Given the description of an element on the screen output the (x, y) to click on. 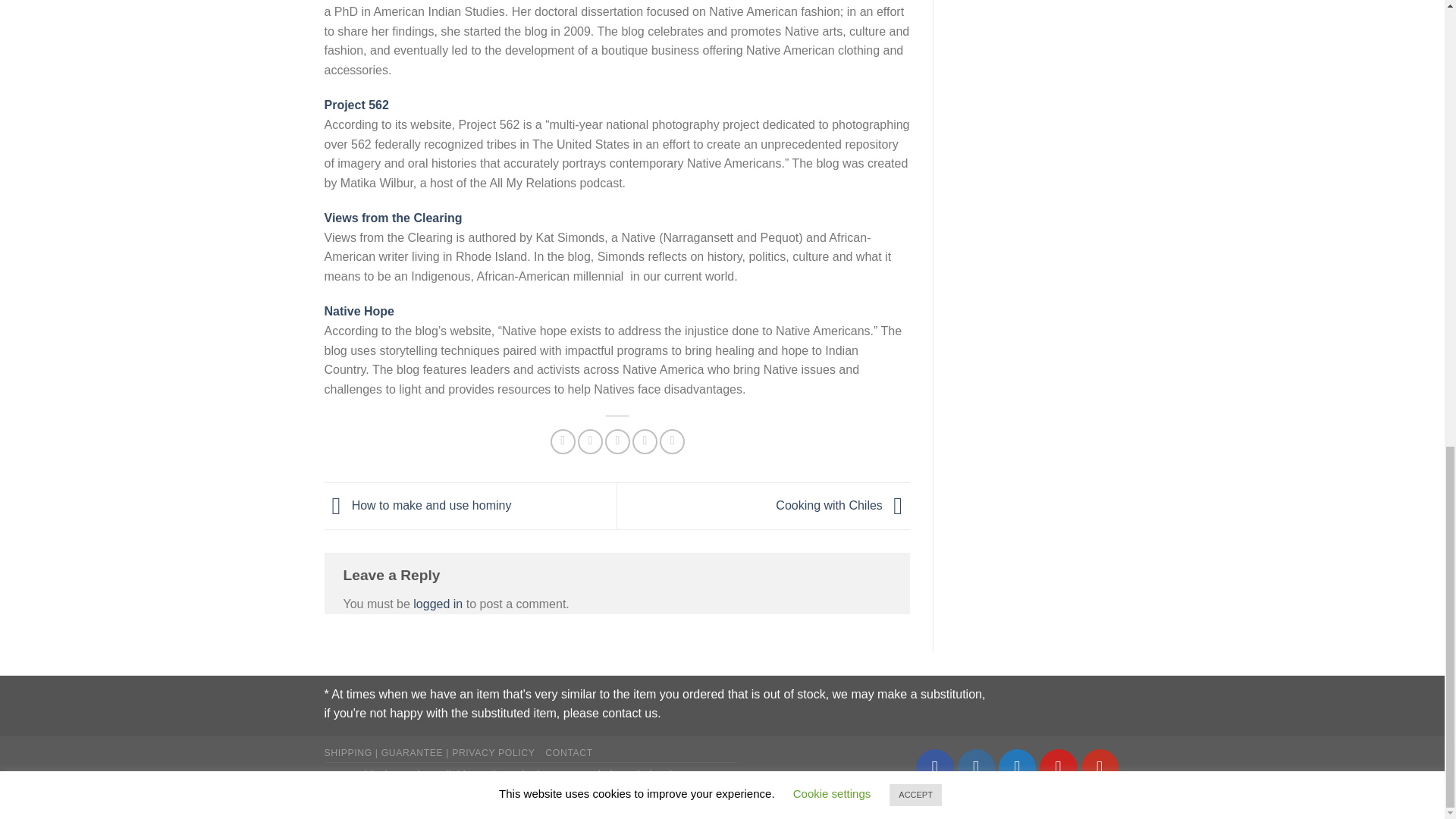
Share on Tumblr (671, 441)
Cooking with Chiles (843, 504)
Follow on Pinterest (1058, 768)
How to make and use hominy (418, 504)
Share on Twitter (590, 441)
Follow on YouTube (1100, 768)
Follow on Instagram (976, 768)
Follow on Facebook (934, 768)
Email to a Friend (617, 441)
Share on Facebook (562, 441)
Views from the Clearing (393, 217)
logged in (438, 603)
Project 562 (356, 104)
Native Hope (359, 310)
Pin on Pinterest (644, 441)
